Given the description of an element on the screen output the (x, y) to click on. 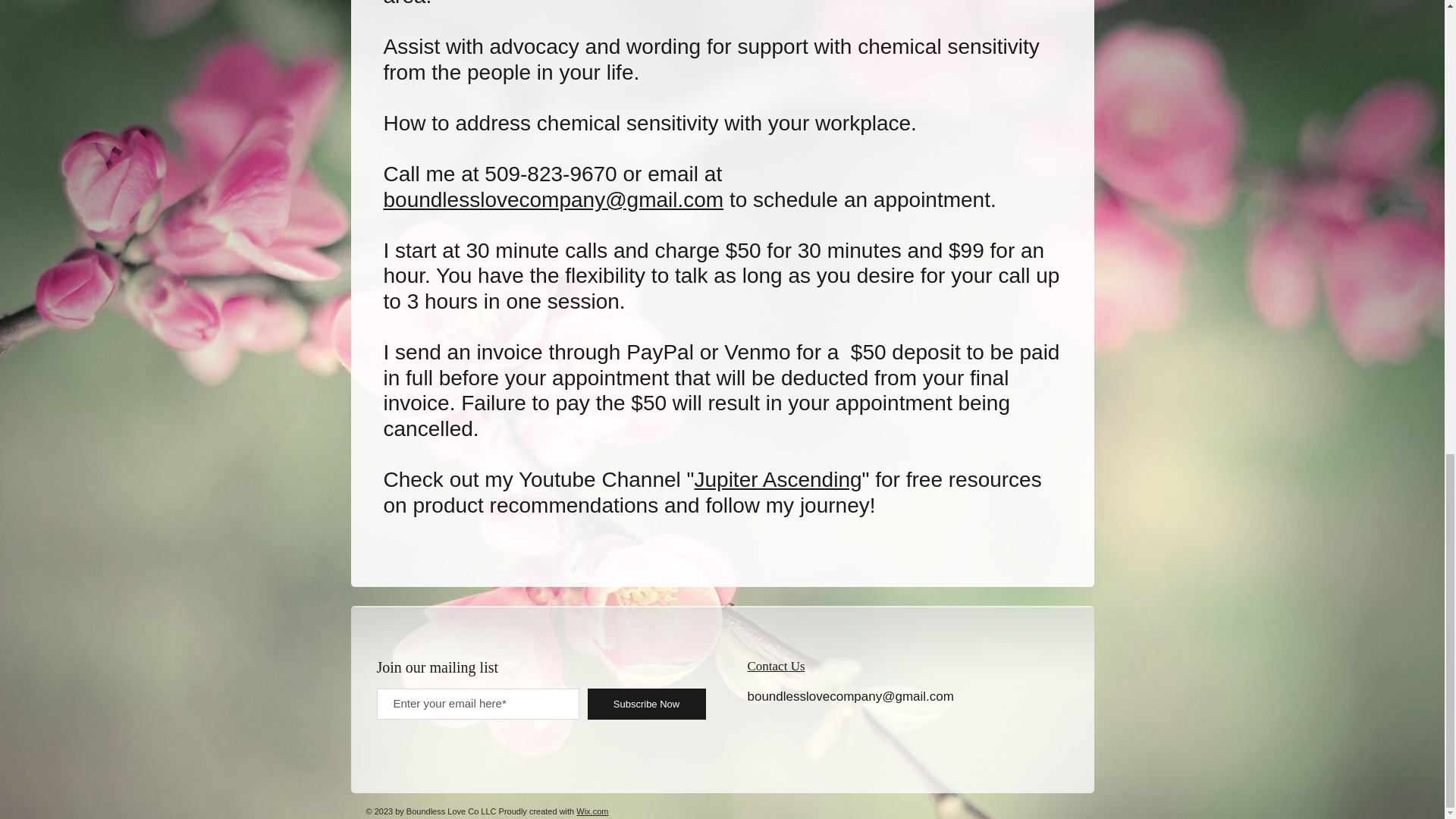
Jupiter Ascending (777, 479)
Wix.com (592, 810)
Subscribe Now (645, 703)
